Given the description of an element on the screen output the (x, y) to click on. 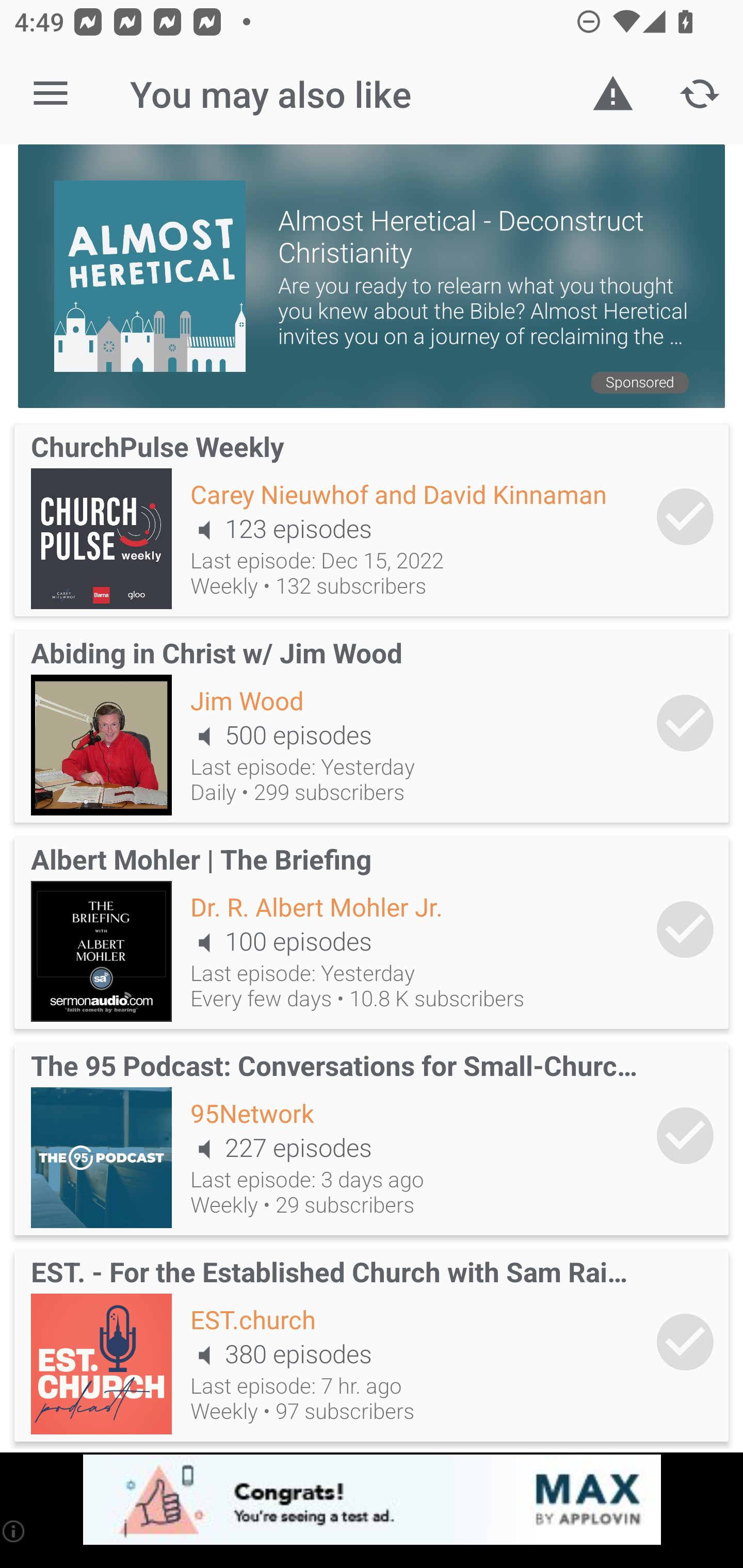
Open navigation sidebar (50, 93)
Report inappropriate content (612, 93)
Update top podcasts list (699, 93)
Add (684, 516)
Add (684, 723)
Add (684, 928)
Add (684, 1135)
Add (684, 1342)
app-monetization (371, 1500)
(i) (14, 1531)
